Given the description of an element on the screen output the (x, y) to click on. 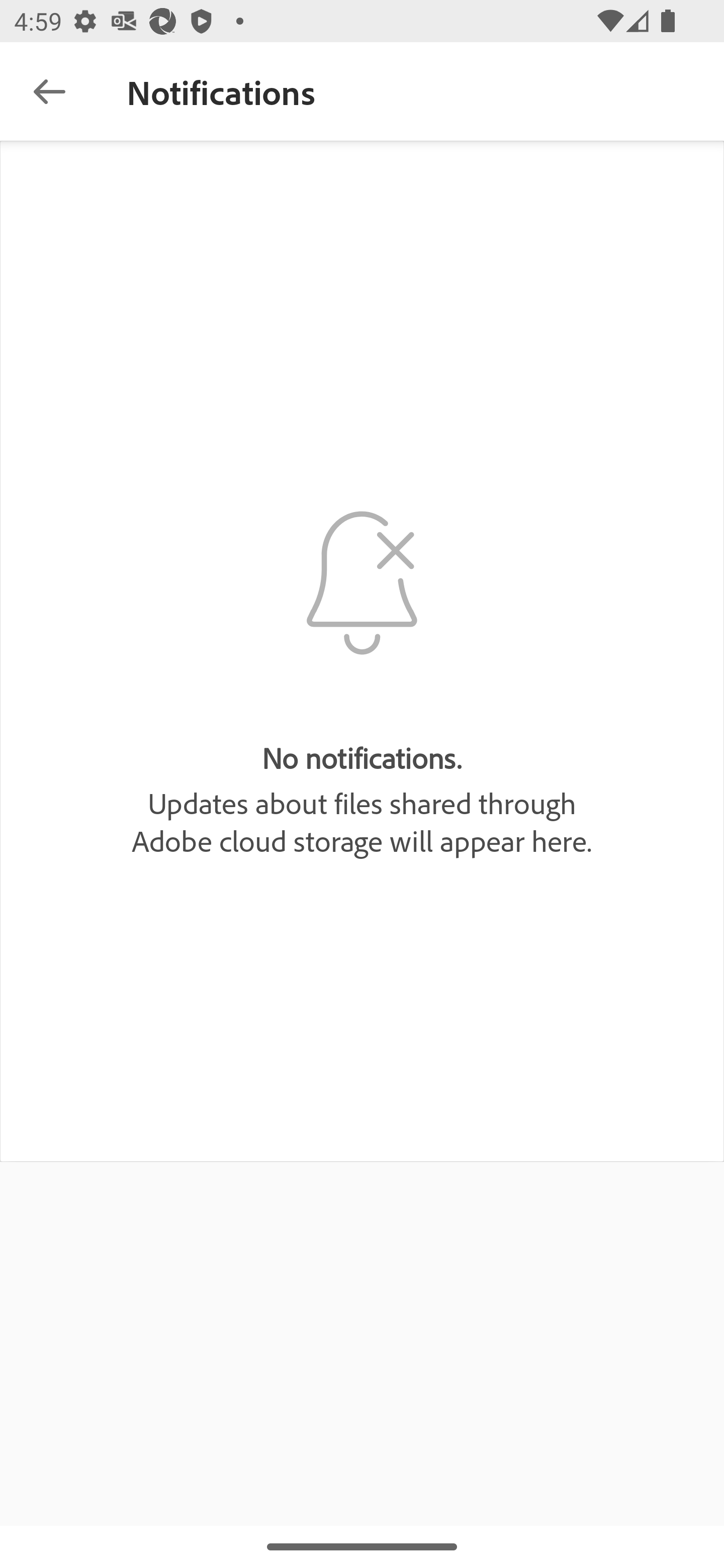
Navigate up (49, 91)
